Given the description of an element on the screen output the (x, y) to click on. 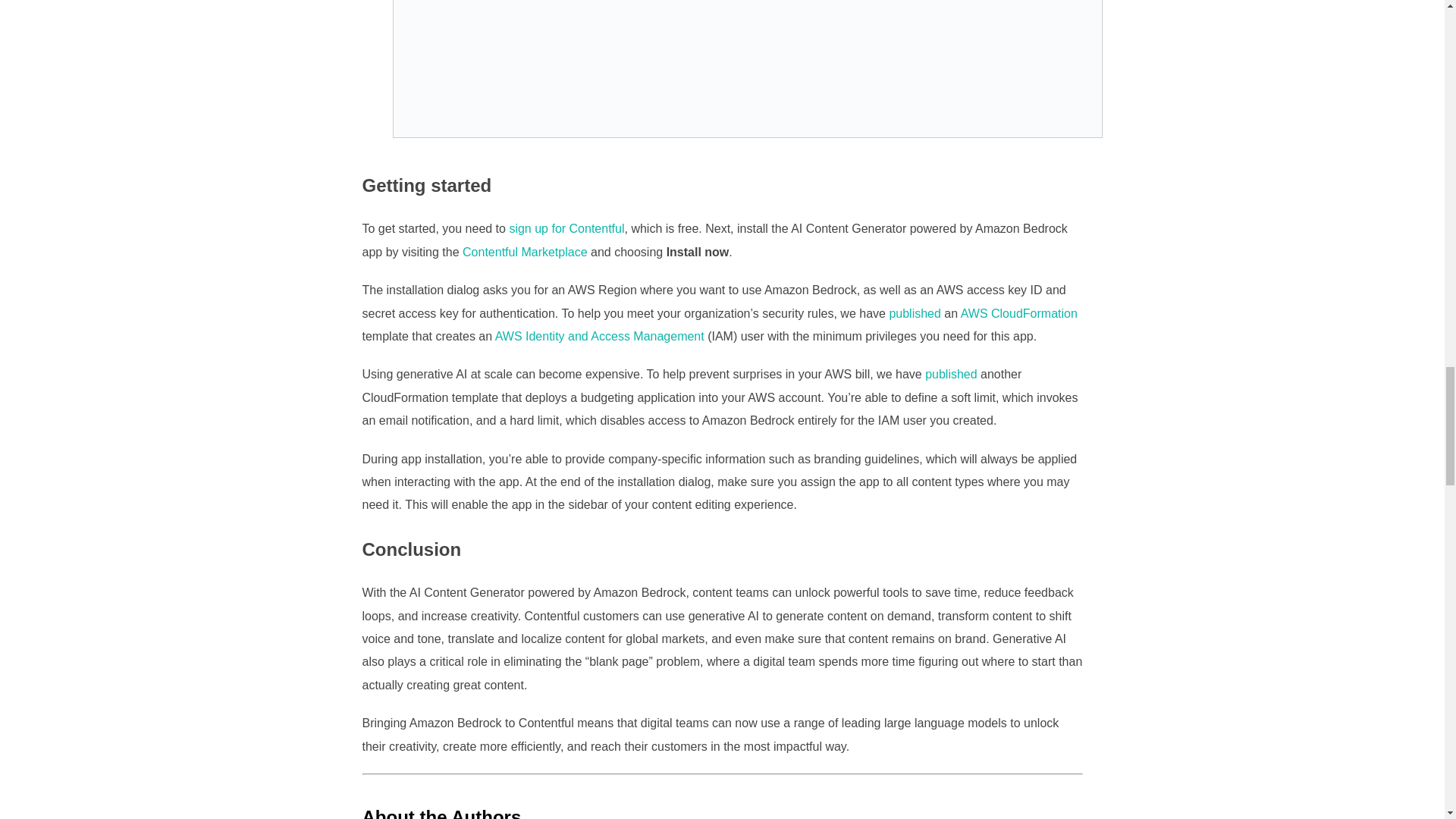
published (914, 313)
AWS Identity and Access Management (599, 336)
Contentful Marketplace (525, 251)
sign up for Contentful (566, 228)
AWS CloudFormation (1018, 313)
